Given the description of an element on the screen output the (x, y) to click on. 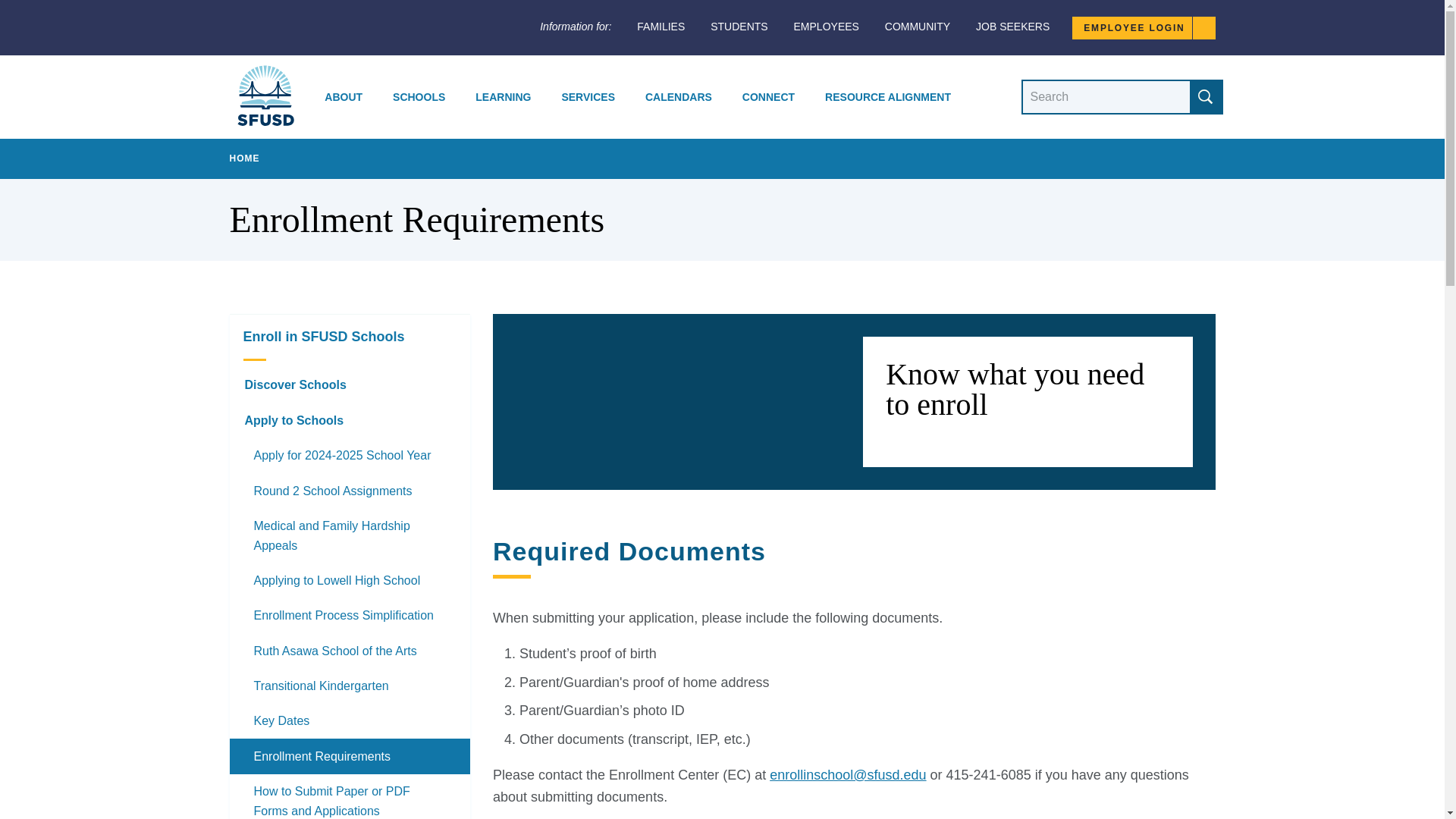
CALENDARS (678, 96)
Learn how to apply to SFUSD schools (349, 419)
COMMUNITY (917, 26)
SCHOOLS (418, 96)
JOB SEEKERS (1012, 26)
STUDENTS (738, 26)
Search (1205, 97)
EMPLOYEES (826, 26)
